Given the description of an element on the screen output the (x, y) to click on. 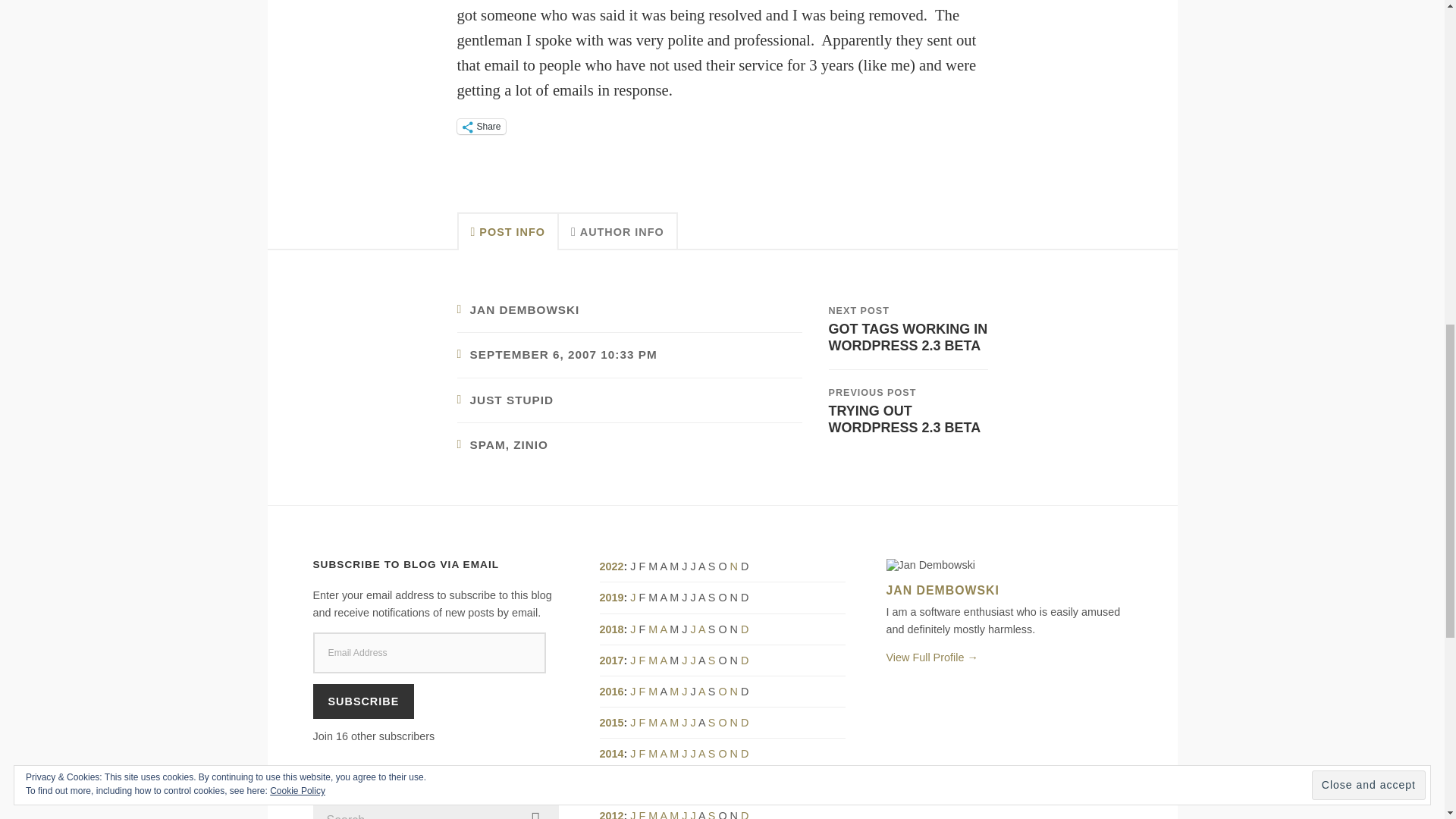
Posts by Jan Dembowski (524, 309)
Search (534, 809)
SEPTEMBER 6, 2007 10:33 PM (564, 354)
ZINIO (530, 444)
POST INFO (507, 231)
JAN DEMBOWSKI (524, 309)
SPAM (487, 444)
2019 (610, 597)
JUST STUPID (907, 328)
